Given the description of an element on the screen output the (x, y) to click on. 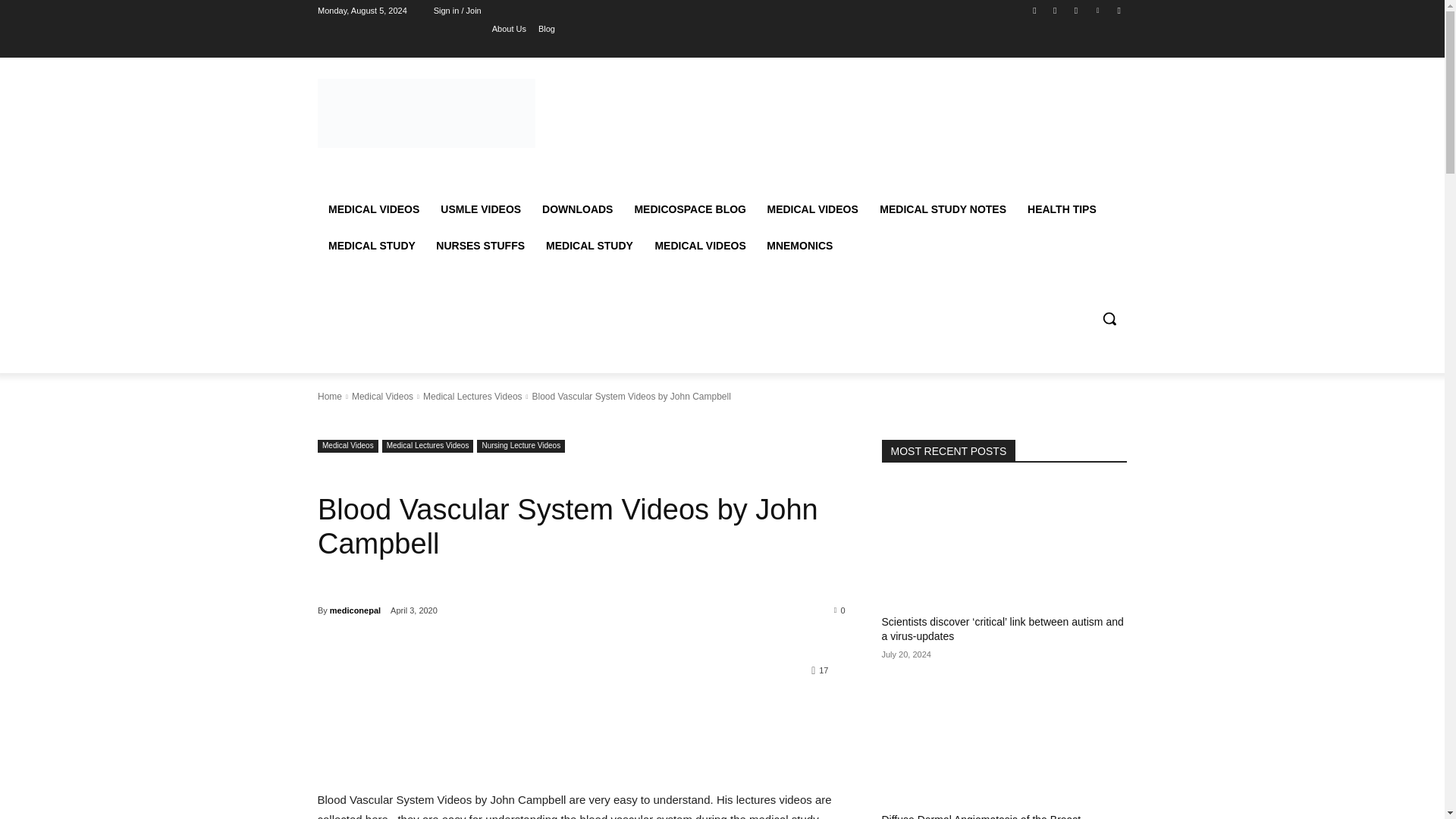
View all posts in Medical Videos (381, 396)
MNEMONICS (799, 245)
Medical Lectures Videos (427, 445)
Twitter (1075, 9)
Medical Lectures Videos (472, 396)
MEDICAL STUDY (589, 245)
MEDICAL VIDEOS (699, 245)
Medical Videos (381, 396)
HEALTH TIPS (1061, 208)
DOWNLOADS (577, 208)
Medical Videos (347, 445)
MEDICAL STUDY NOTES (942, 208)
View all posts in Medical Lectures Videos (472, 396)
MEDICAL STUDY (371, 245)
USMLE VIDEOS (480, 208)
